Given the description of an element on the screen output the (x, y) to click on. 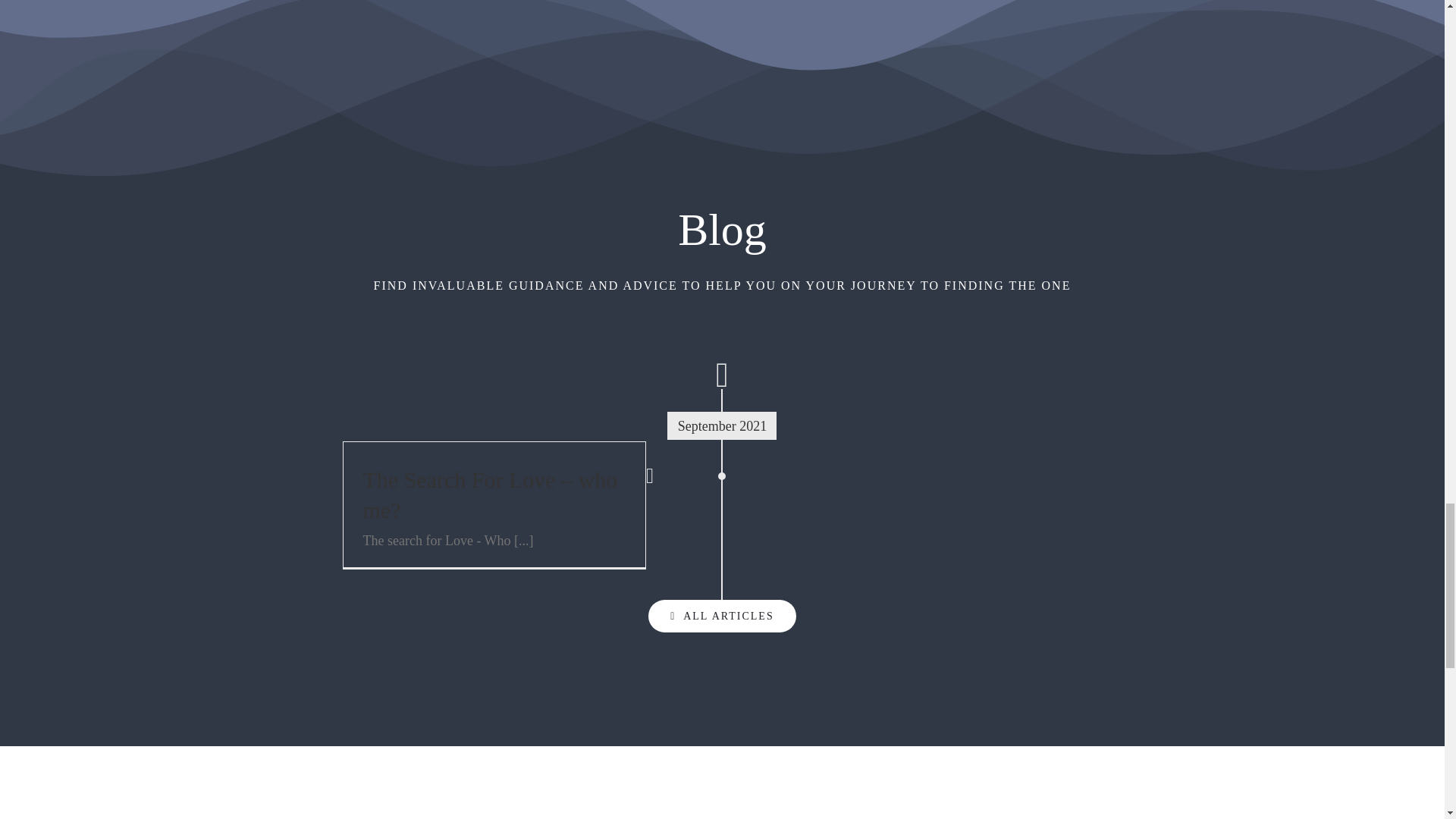
ALL ARTICLES (720, 615)
